Given the description of an element on the screen output the (x, y) to click on. 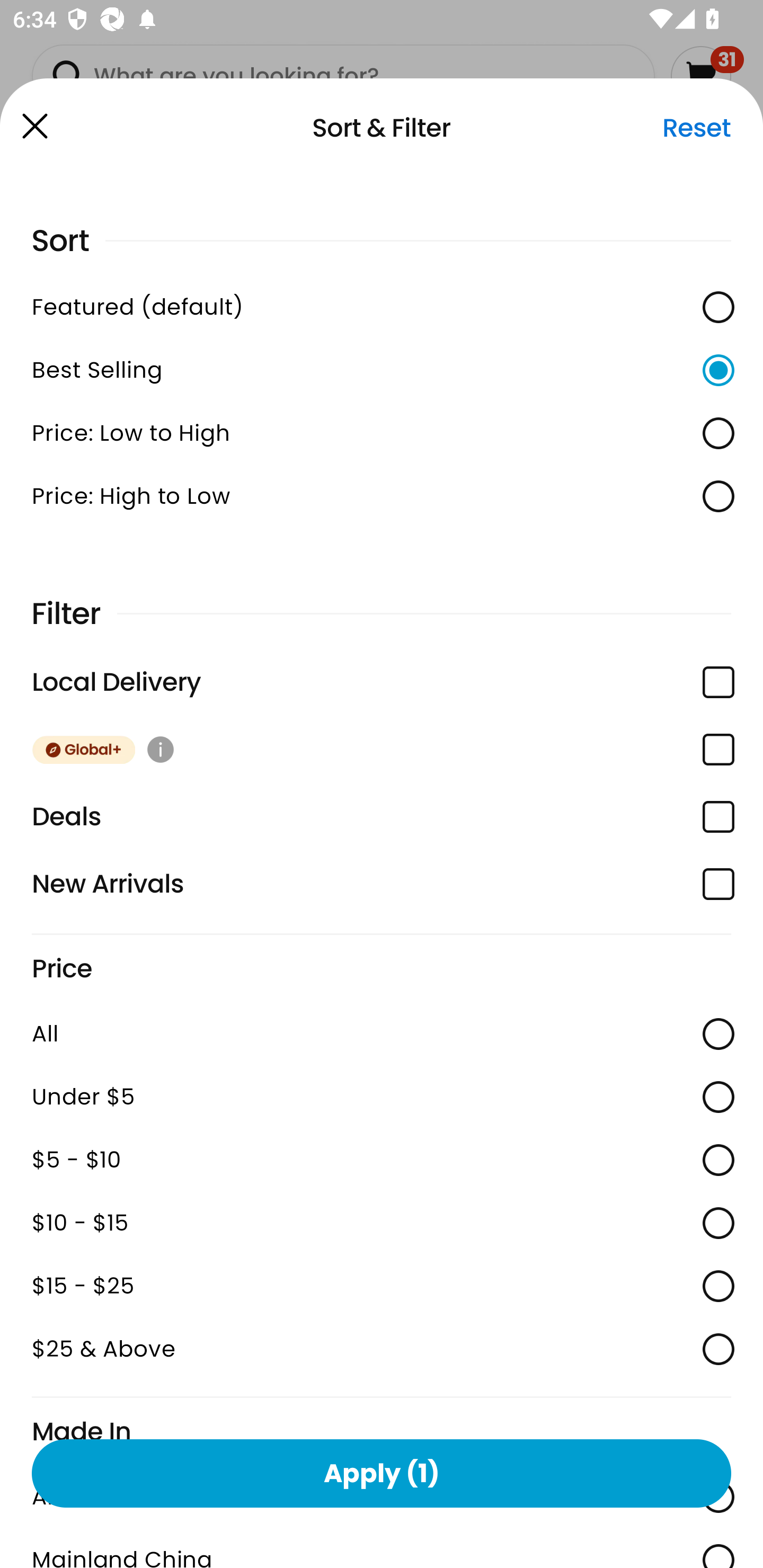
Reset (696, 127)
Apply (1) (381, 1472)
